Given the description of an element on the screen output the (x, y) to click on. 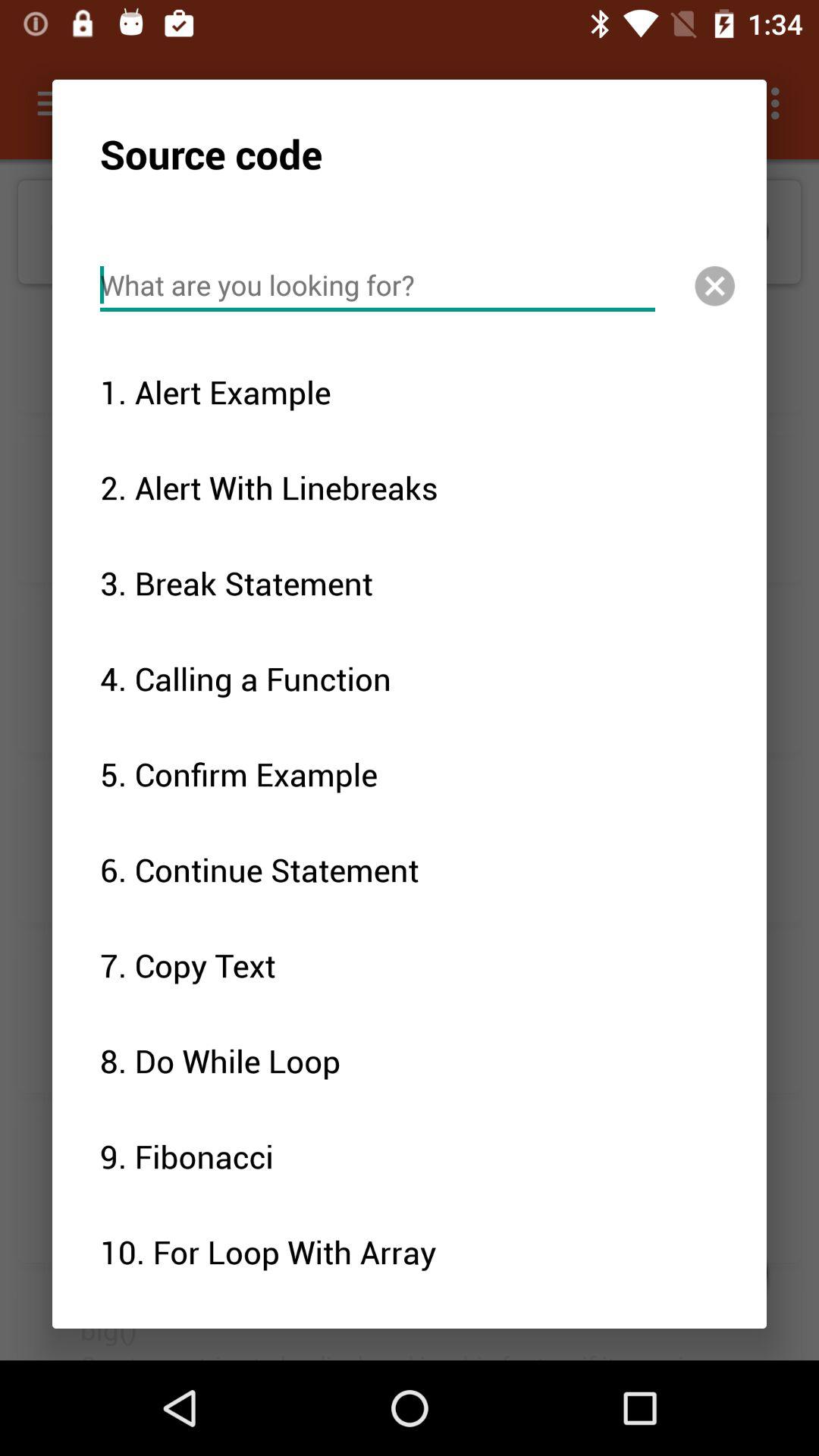
select the icon above the 1. alert example item (377, 285)
